Given the description of an element on the screen output the (x, y) to click on. 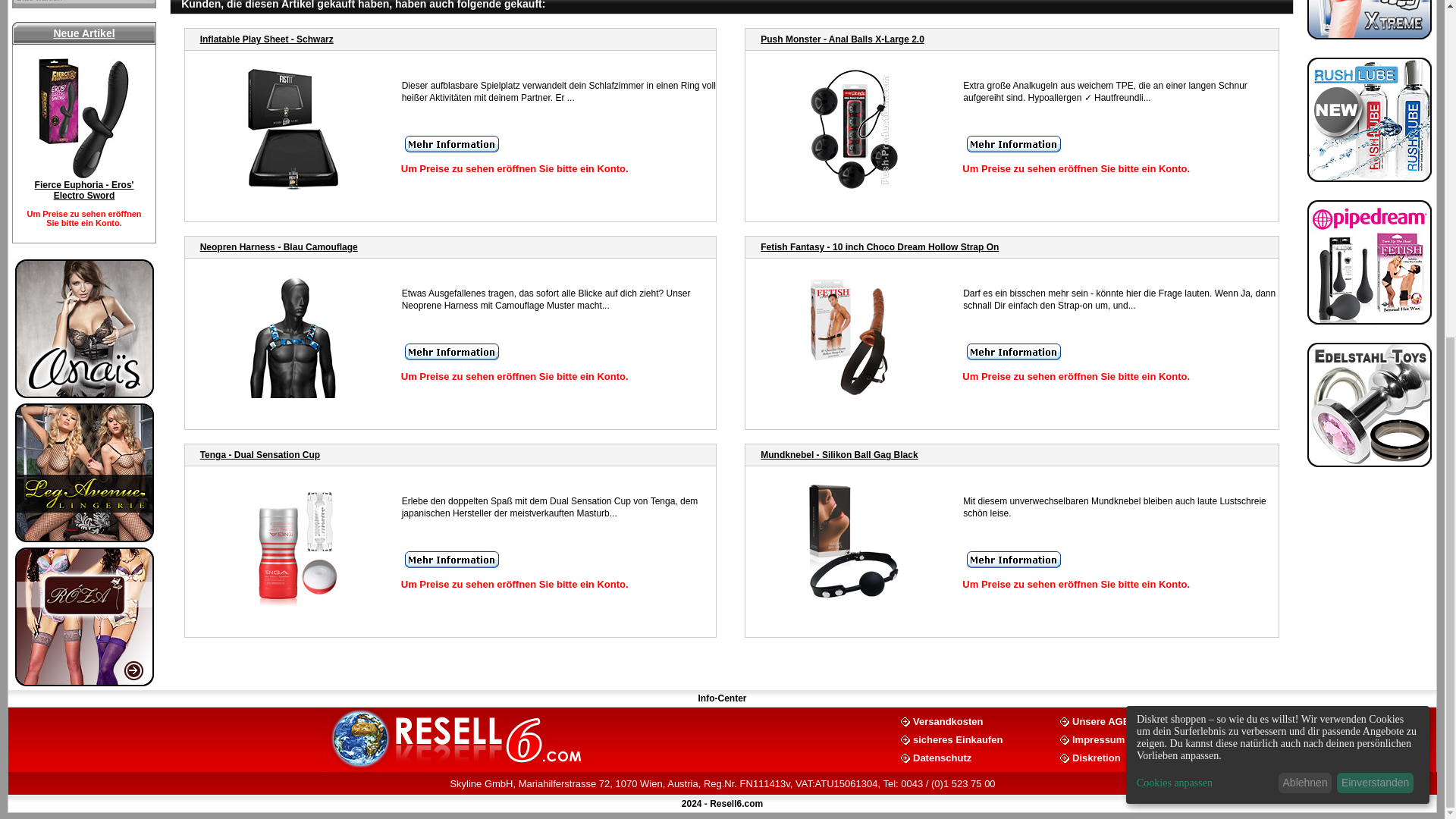
Neue Artikel (83, 33)
Inflatable Play Sheet - Schwarz (266, 39)
Push Monster - Anal Balls X-Large 2.0 (842, 39)
Fierce Euphoria - Eros' Electro Sword (83, 189)
